Given the description of an element on the screen output the (x, y) to click on. 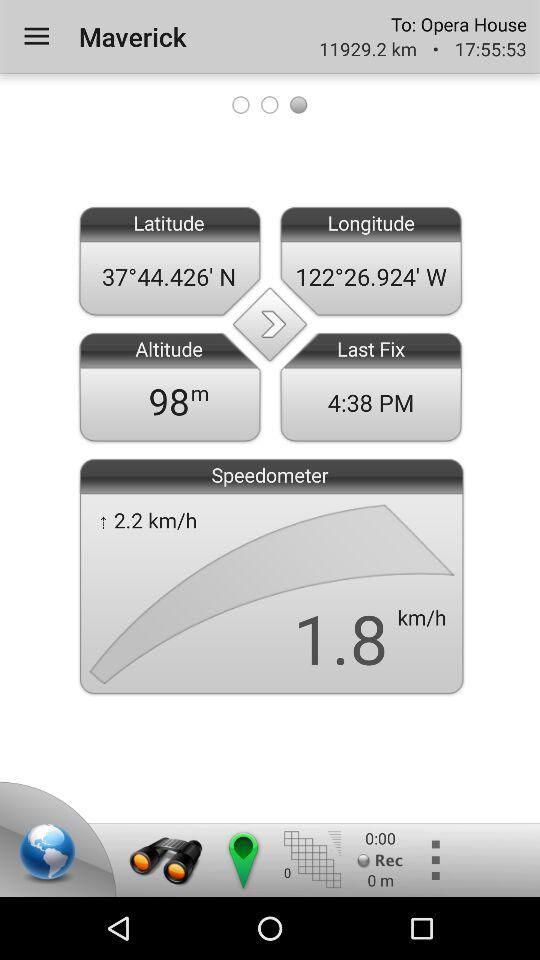
turn off the app next to maverick icon (36, 36)
